Given the description of an element on the screen output the (x, y) to click on. 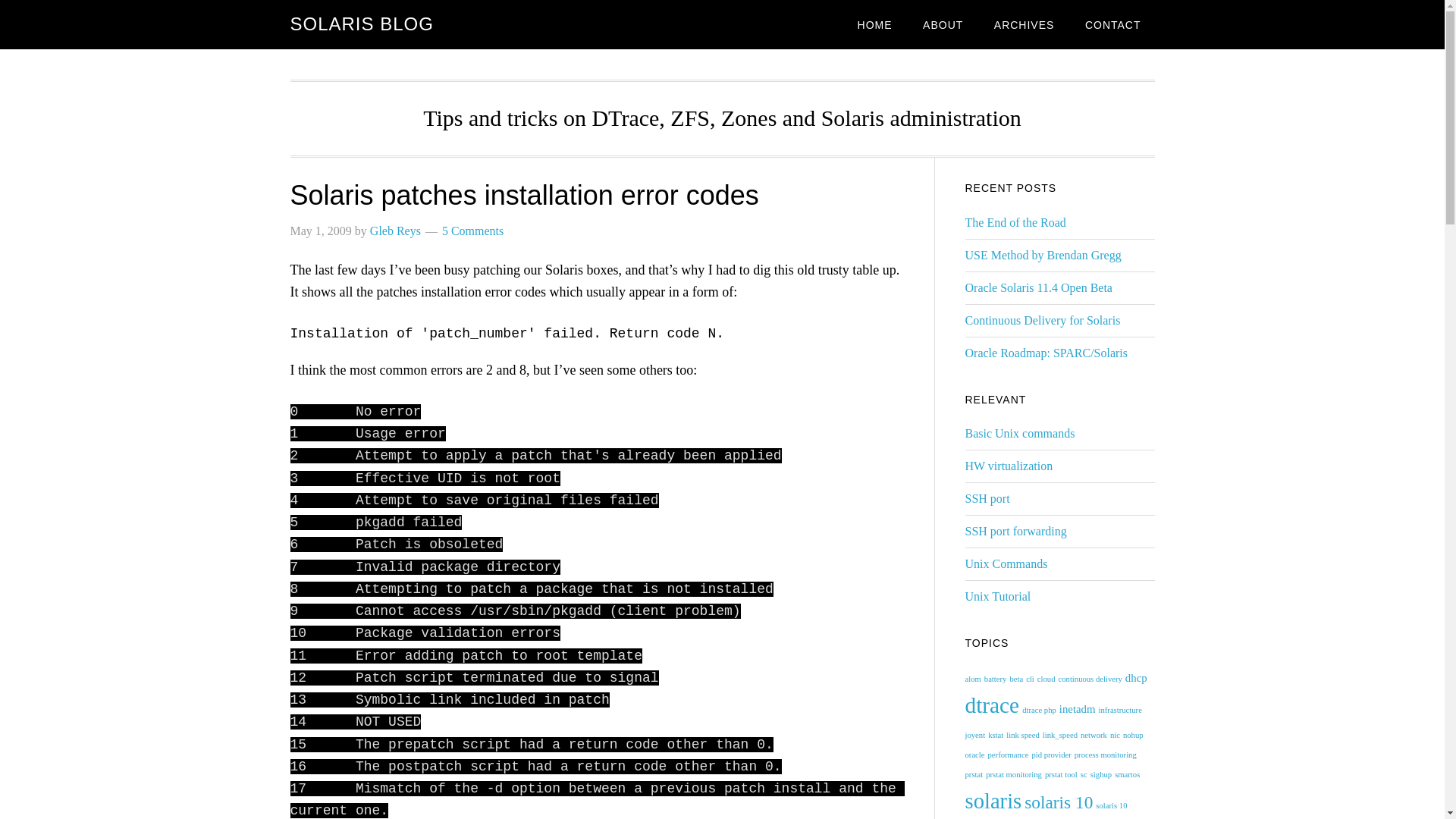
Unix Tutorial (996, 595)
Gleb Reys (394, 230)
SOLARIS BLOG (360, 23)
5 Comments (472, 230)
ABOUT (942, 24)
Basic Unix Commands (1018, 432)
ARCHIVES (1023, 24)
beta (1016, 678)
SSH port forwarding (1014, 530)
SSH port (986, 498)
HW virtualization (1007, 465)
Oracle Solaris 11.4 Open Beta (1037, 287)
USE Method by Brendan Gregg (1042, 254)
Continuous Delivery for Solaris (1041, 319)
